Given the description of an element on the screen output the (x, y) to click on. 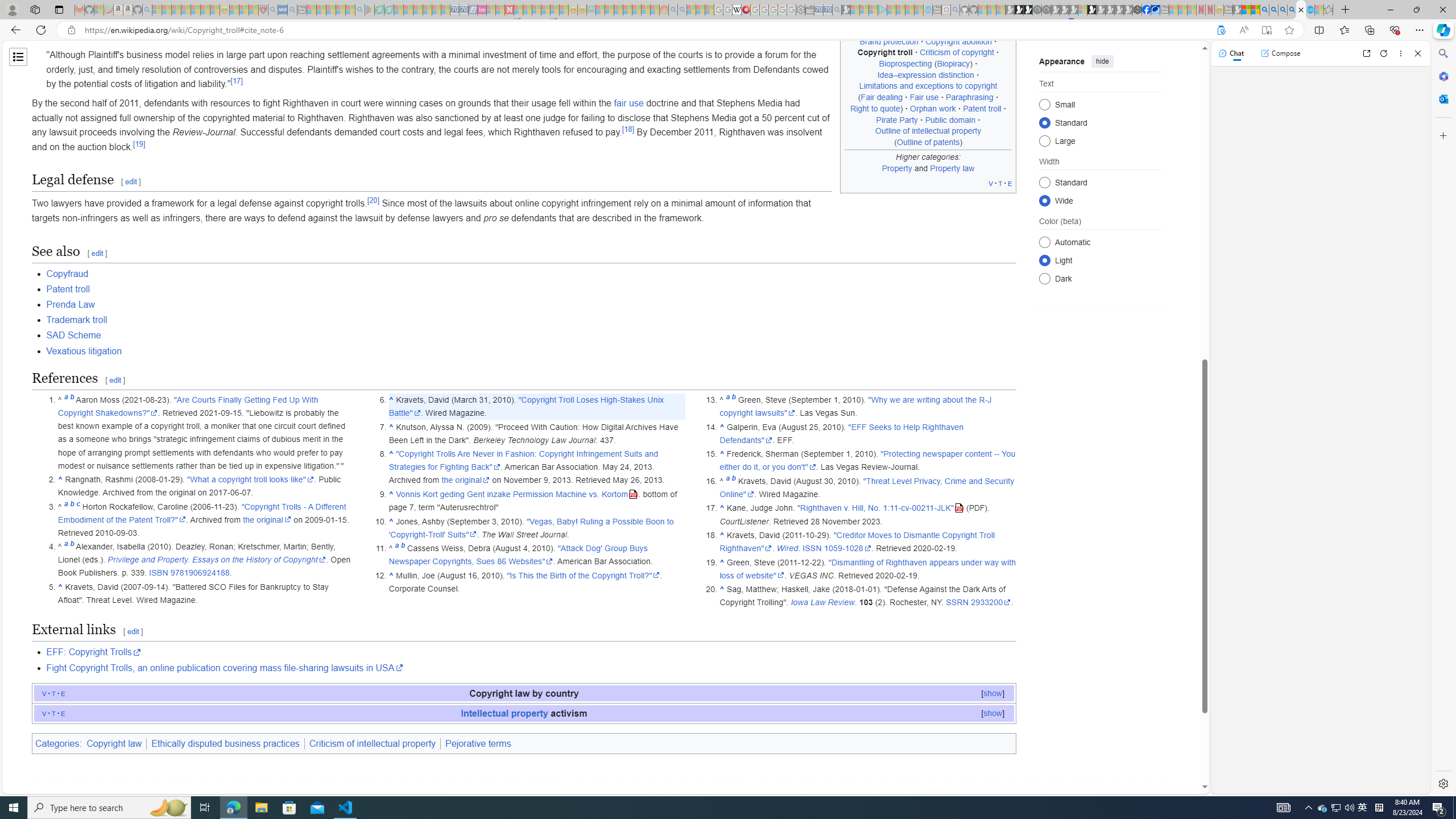
Nordace - Cooler Bags (1137, 9)
EFF: Copyright Trolls (93, 652)
More options (1401, 53)
Prenda Law (70, 304)
Categories (57, 742)
Close Customize pane (1442, 135)
Bluey: Let's Play! - Apps on Google Play - Sleeping (369, 9)
Workspaces (34, 9)
Microsoft-Report a Concern to Bing - Sleeping (98, 9)
